Given the description of an element on the screen output the (x, y) to click on. 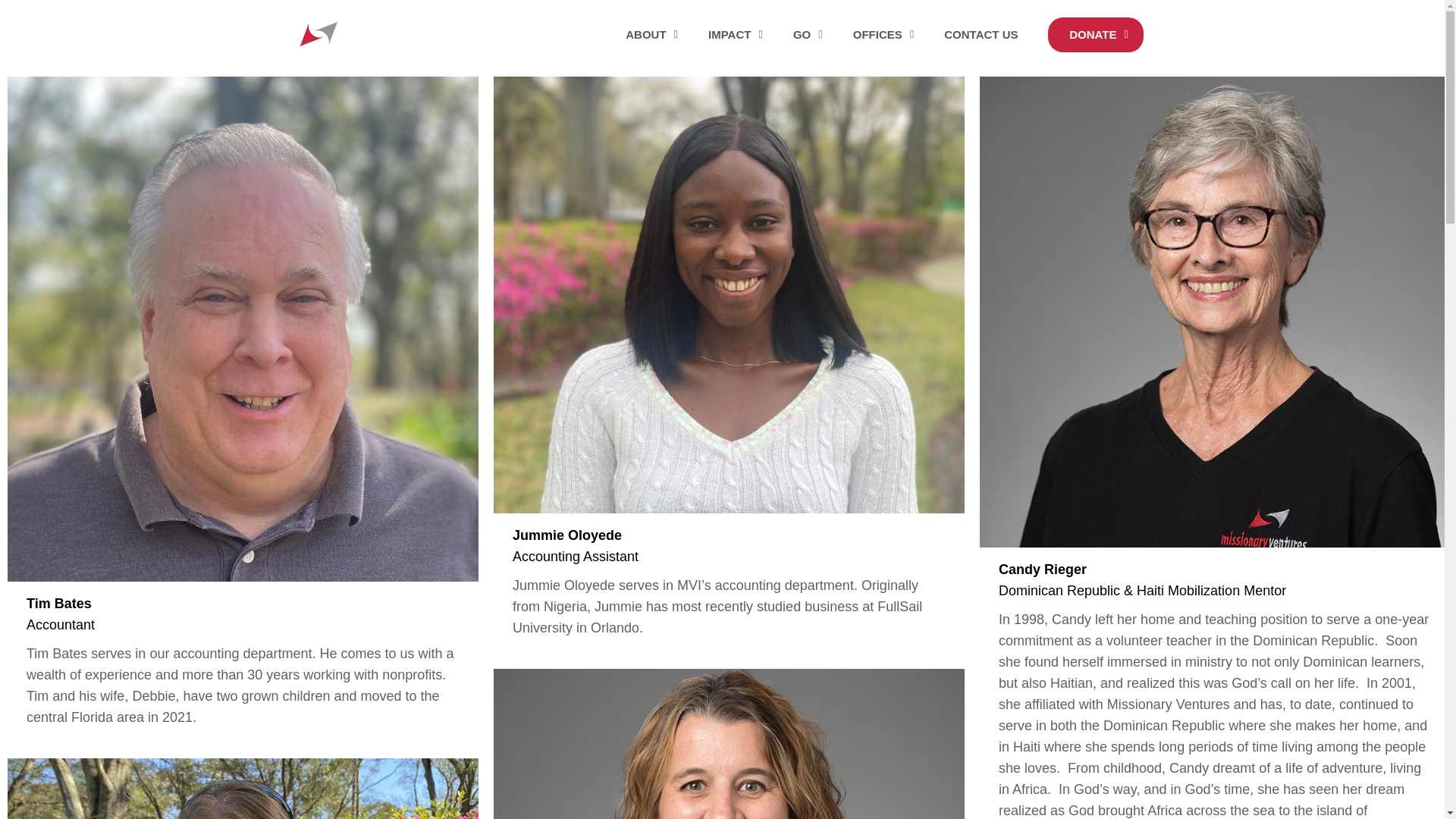
Nancy Nordman (243, 788)
becky (728, 744)
